Given the description of an element on the screen output the (x, y) to click on. 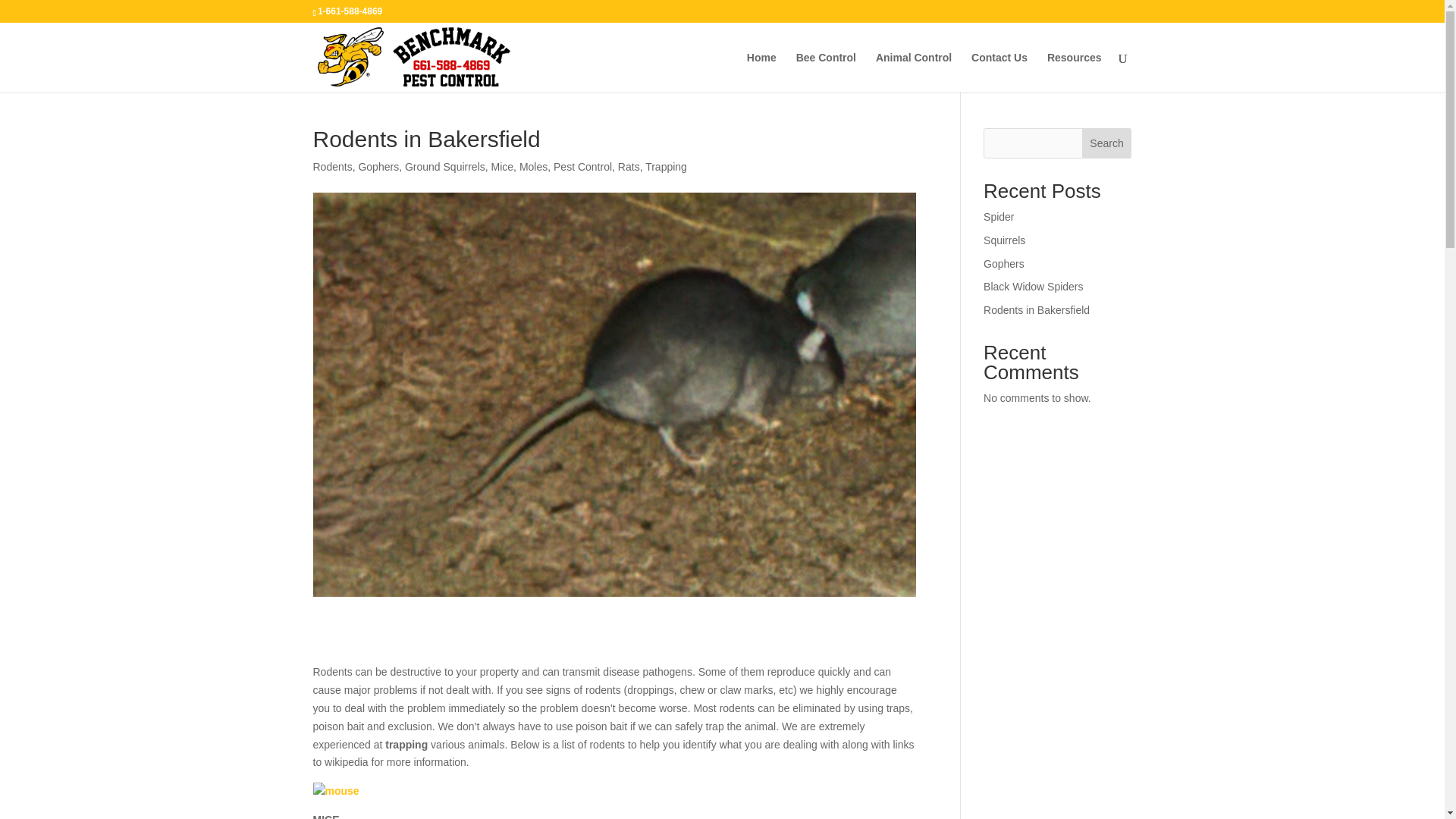
Contact Us (999, 72)
Ground Squirrels (444, 166)
Gophers (378, 166)
Squirrels (1004, 240)
Gophers (1004, 263)
Rats (628, 166)
Pest Control (582, 166)
Resources (1074, 72)
Search (1106, 142)
Bee Control (826, 72)
